Given the description of an element on the screen output the (x, y) to click on. 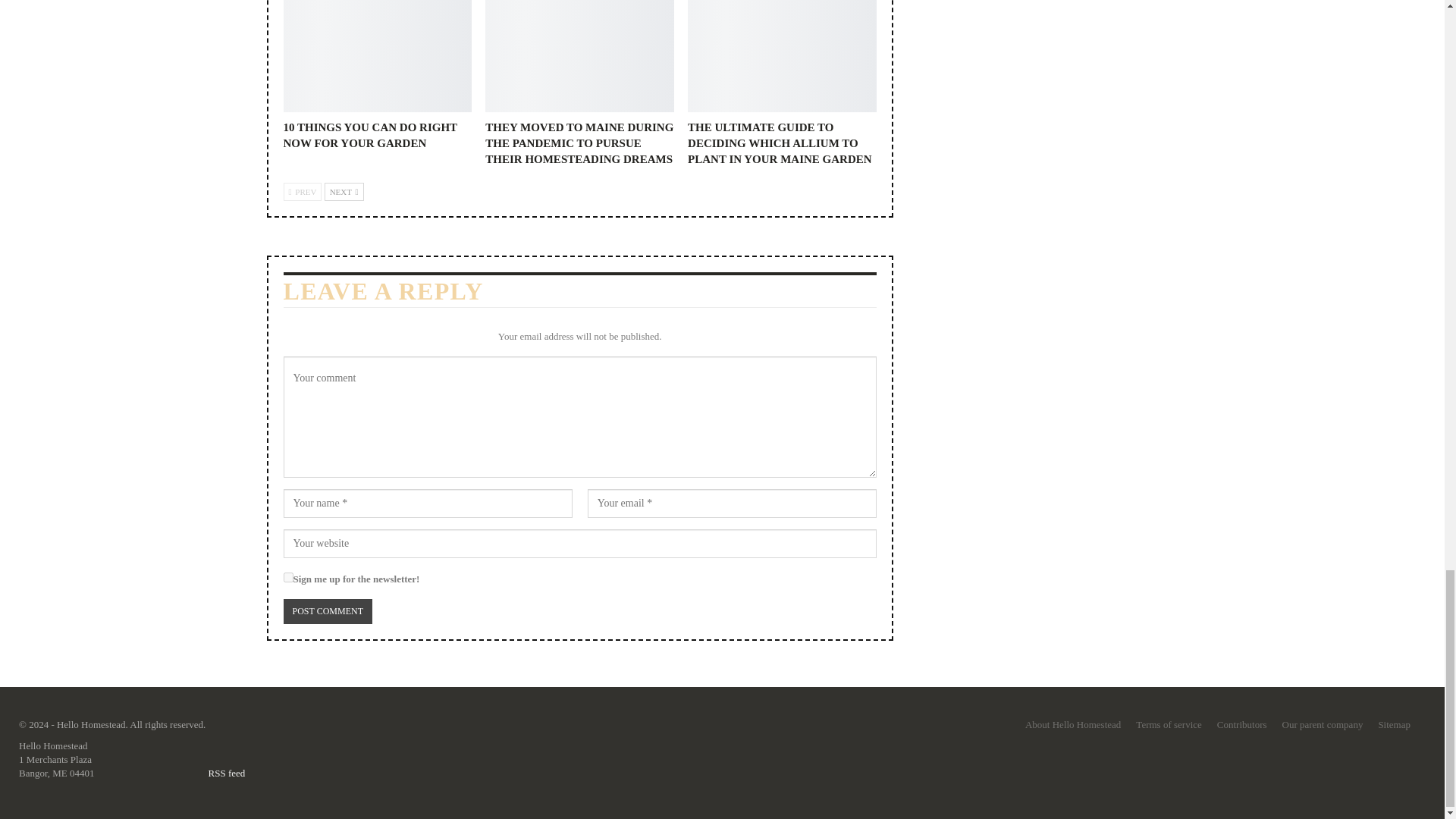
Post comment (327, 611)
10 things you can do right now for your garden (370, 135)
Previous (302, 191)
10 things you can do right now for your garden (377, 56)
1 (288, 577)
10 THINGS YOU CAN DO RIGHT NOW FOR YOUR GARDEN (370, 135)
